Given the description of an element on the screen output the (x, y) to click on. 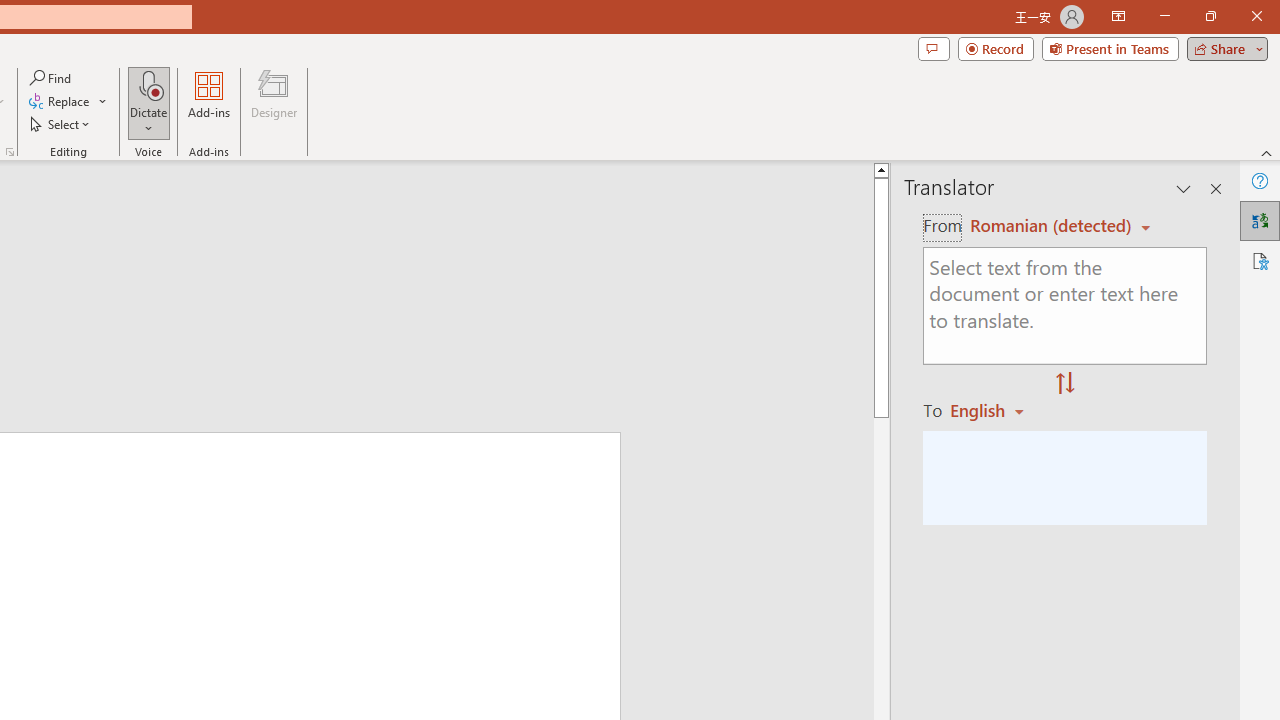
Romanian (994, 409)
